Given the description of an element on the screen output the (x, y) to click on. 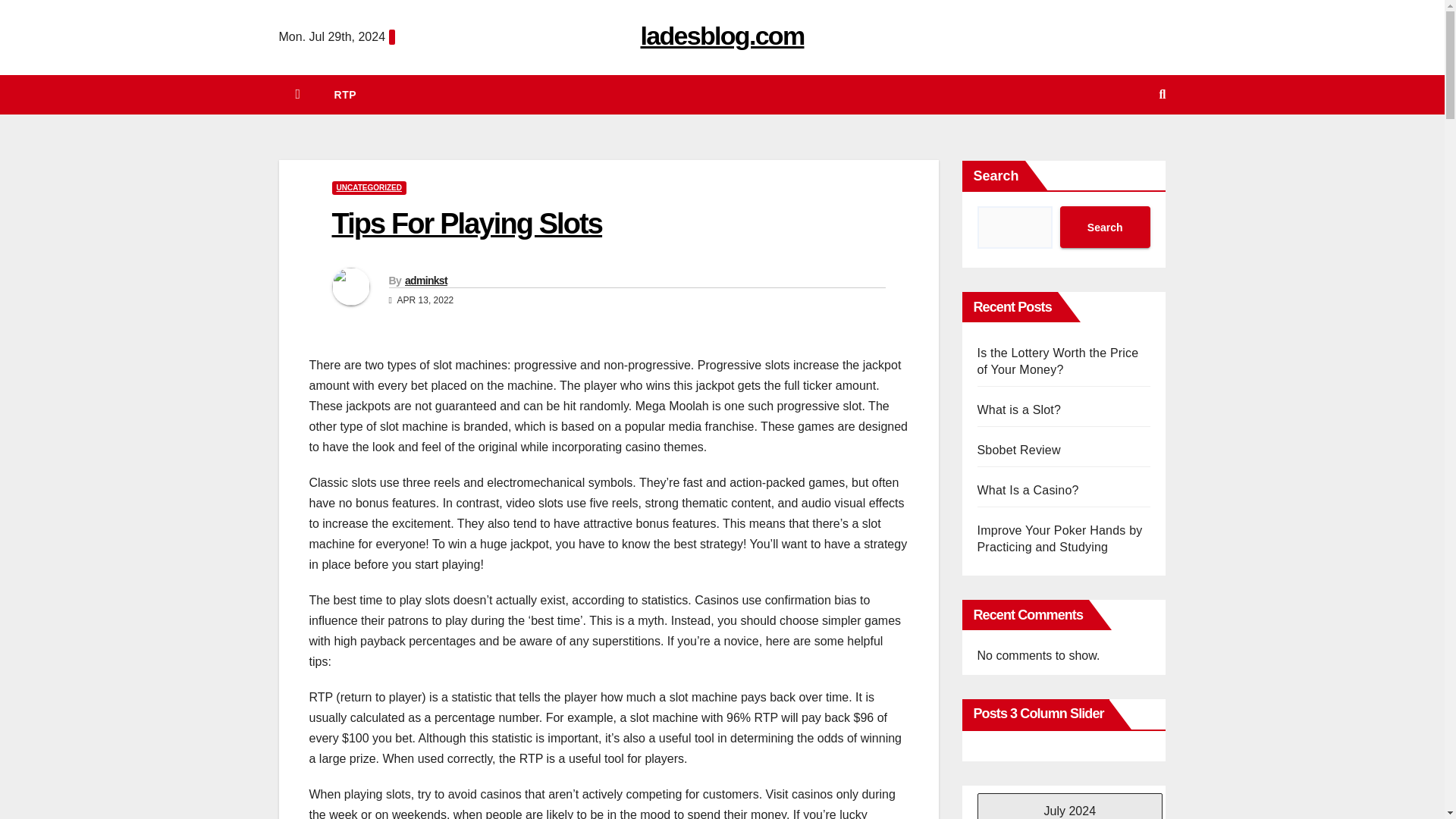
ladesblog.com (721, 35)
Search (1104, 227)
adminkst (425, 280)
Sbobet Review (1017, 449)
What is a Slot? (1018, 409)
What Is a Casino? (1027, 490)
RTP (345, 94)
UNCATEGORIZED (368, 187)
Improve Your Poker Hands by Practicing and Studying (1058, 538)
RTP (345, 94)
Permalink to: Tips For Playing Slots (466, 223)
Is the Lottery Worth the Price of Your Money? (1057, 360)
Tips For Playing Slots (466, 223)
